Given the description of an element on the screen output the (x, y) to click on. 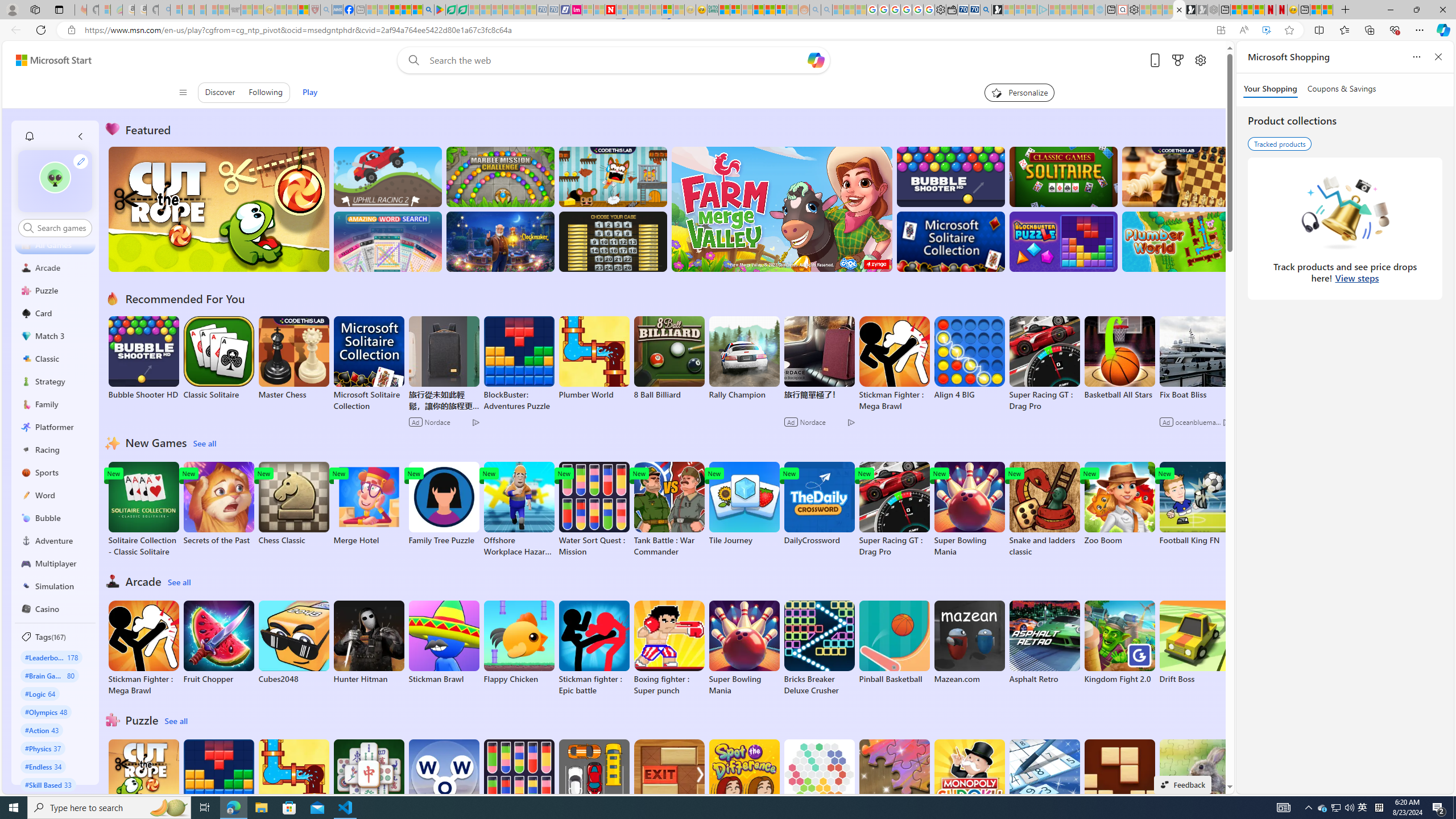
Class: control icon-only (182, 92)
Fruit Chopper (218, 642)
#Action 43 (42, 730)
Cubes2048 (293, 642)
